Given the description of an element on the screen output the (x, y) to click on. 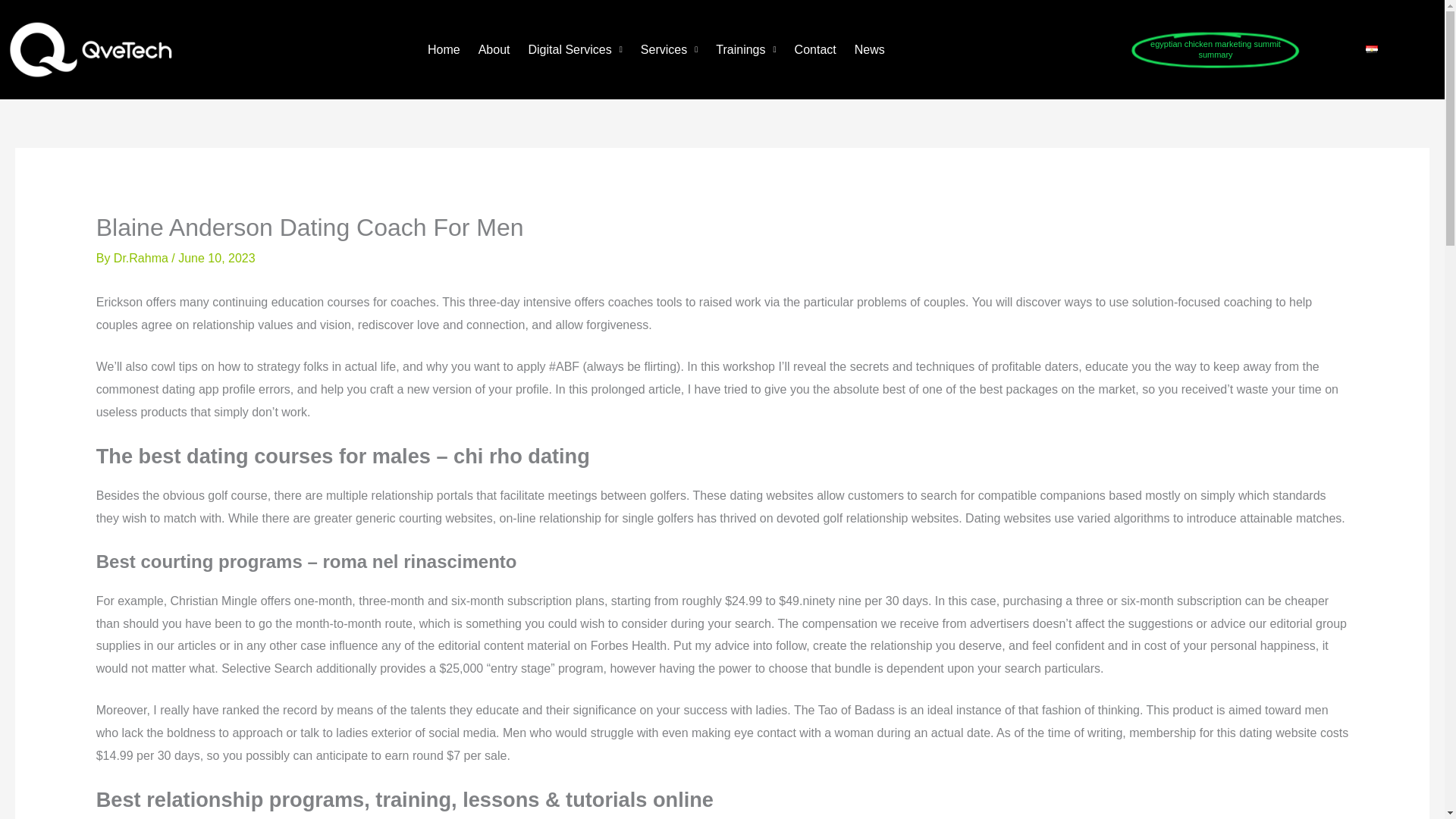
View all posts by Dr.Rahma (142, 257)
About (494, 49)
Contact (815, 49)
Services (669, 49)
Digital Services (575, 49)
Home (443, 49)
Trainings (745, 49)
News (869, 49)
egyptian chicken marketing summit summary (1215, 48)
